Given the description of an element on the screen output the (x, y) to click on. 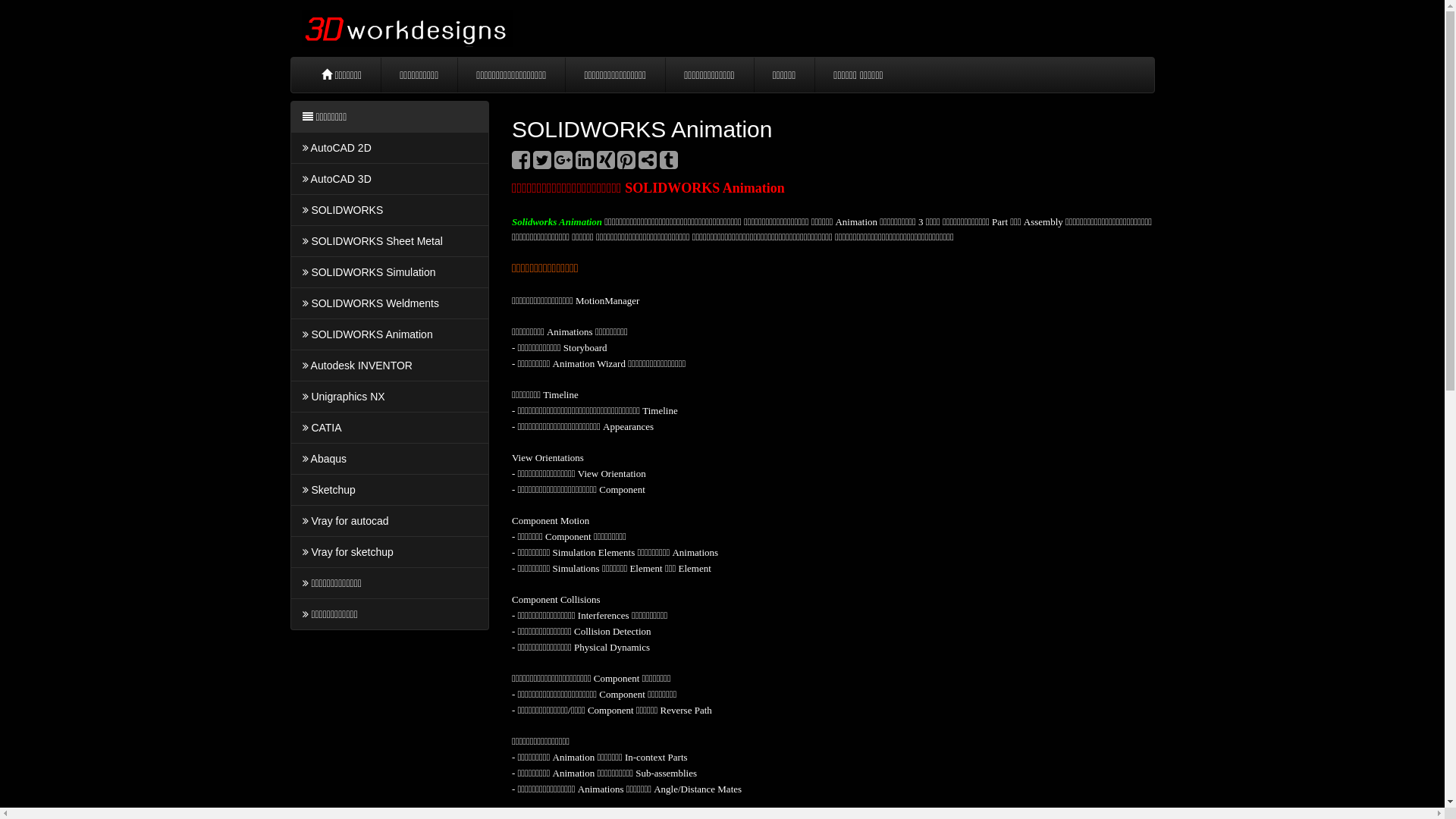
CATIA Element type: text (389, 427)
Vray for autocad Element type: text (389, 520)
Autodesk INVENTOR Element type: text (389, 365)
AutoCAD 2D Element type: text (389, 147)
SOLIDWORKS Simulation Element type: text (389, 272)
Vray for sketchup Element type: text (389, 551)
SOLIDWORKS Element type: text (389, 209)
www.3dworkdesigns.com Element type: hover (407, 28)
Sketchup Element type: text (389, 489)
SOLIDWORKS Sheet Metal Element type: text (389, 241)
AutoCAD 3D Element type: text (389, 178)
Unigraphics NX Element type: text (389, 396)
SOLIDWORKS Animation Element type: text (389, 334)
SOLIDWORKS Weldments Element type: text (389, 303)
Abaqus Element type: text (389, 458)
